Given the description of an element on the screen output the (x, y) to click on. 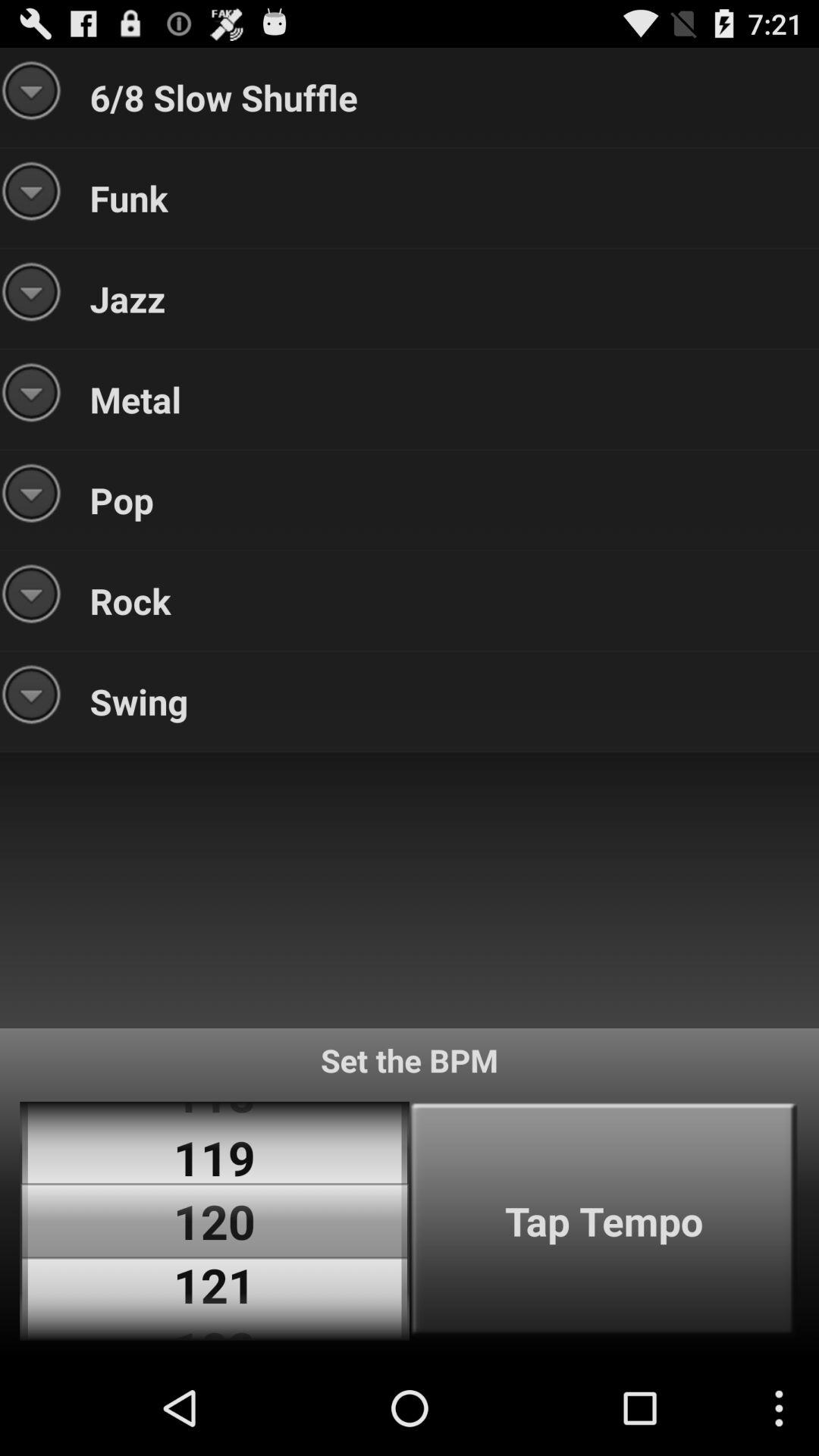
turn off icon at the bottom right corner (604, 1220)
